Given the description of an element on the screen output the (x, y) to click on. 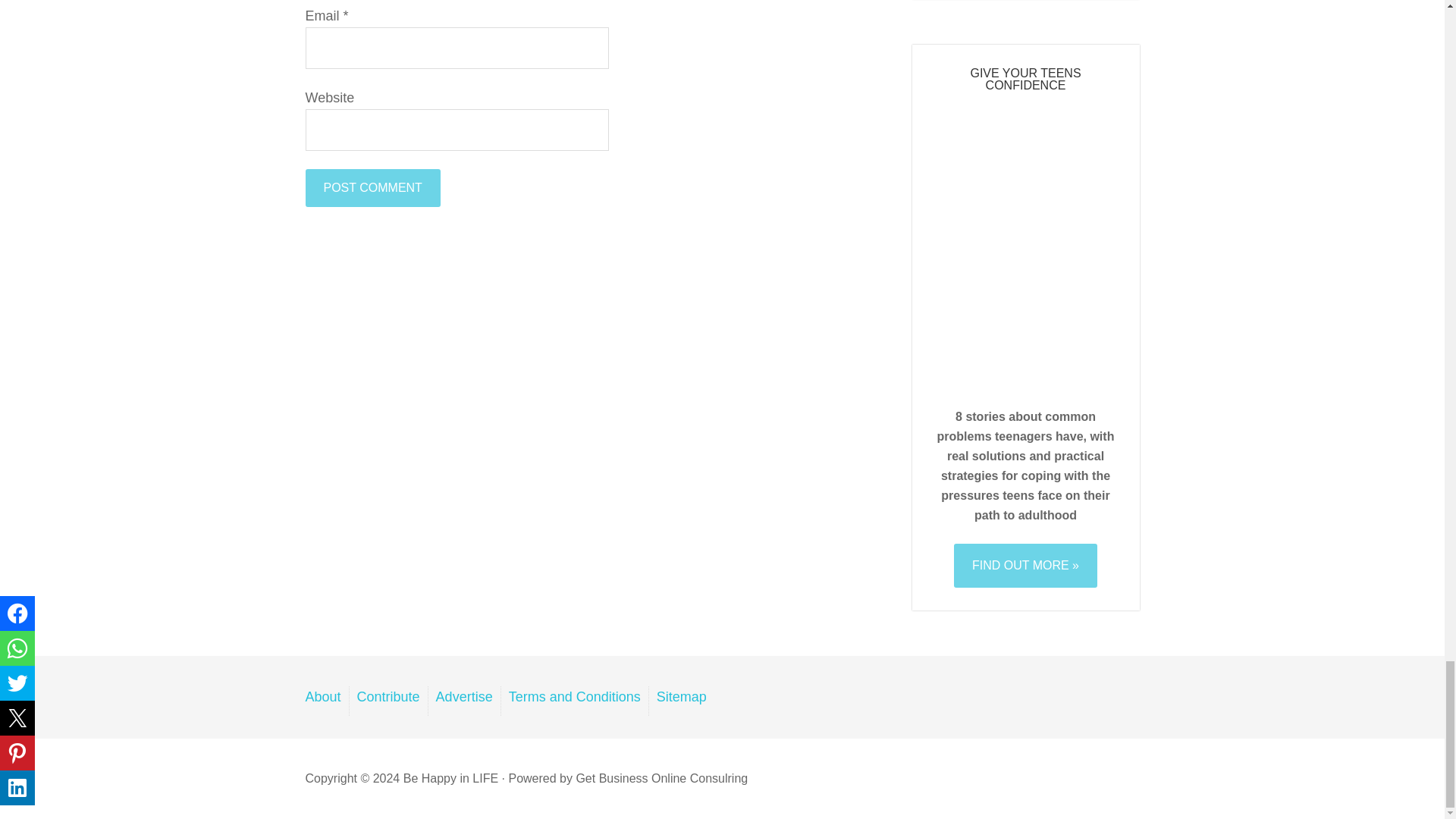
Post Comment (371, 187)
Post Comment (371, 187)
